Given the description of an element on the screen output the (x, y) to click on. 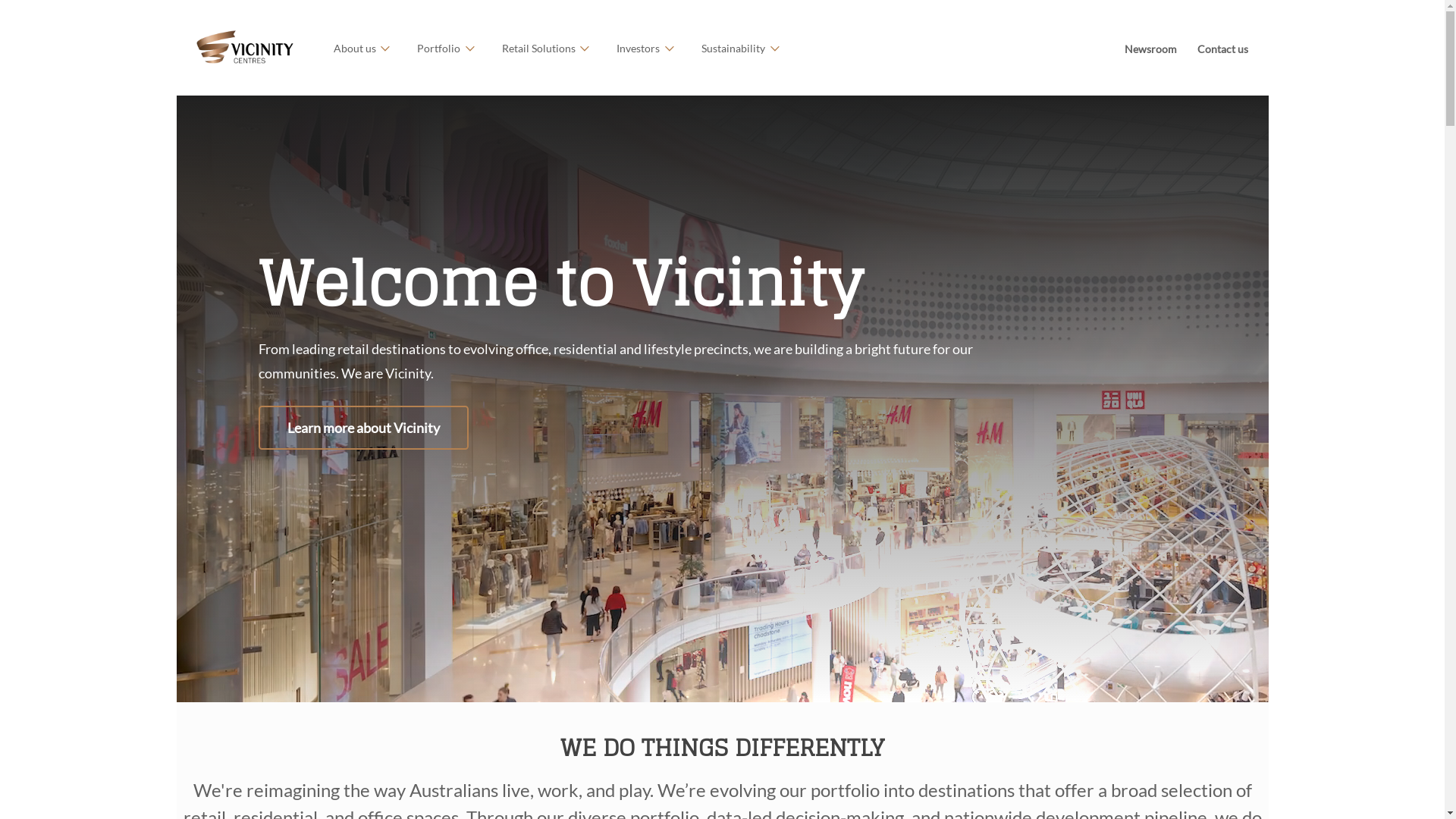
Sustainability Element type: text (740, 47)
Retail Solutions Element type: text (545, 47)
Investors Element type: text (644, 47)
About us Element type: text (362, 47)
Contact us Element type: text (1221, 48)
Portfolio Element type: text (445, 47)
Newsroom Element type: text (1149, 48)
Learn more about Vicinity Element type: text (362, 427)
